Given the description of an element on the screen output the (x, y) to click on. 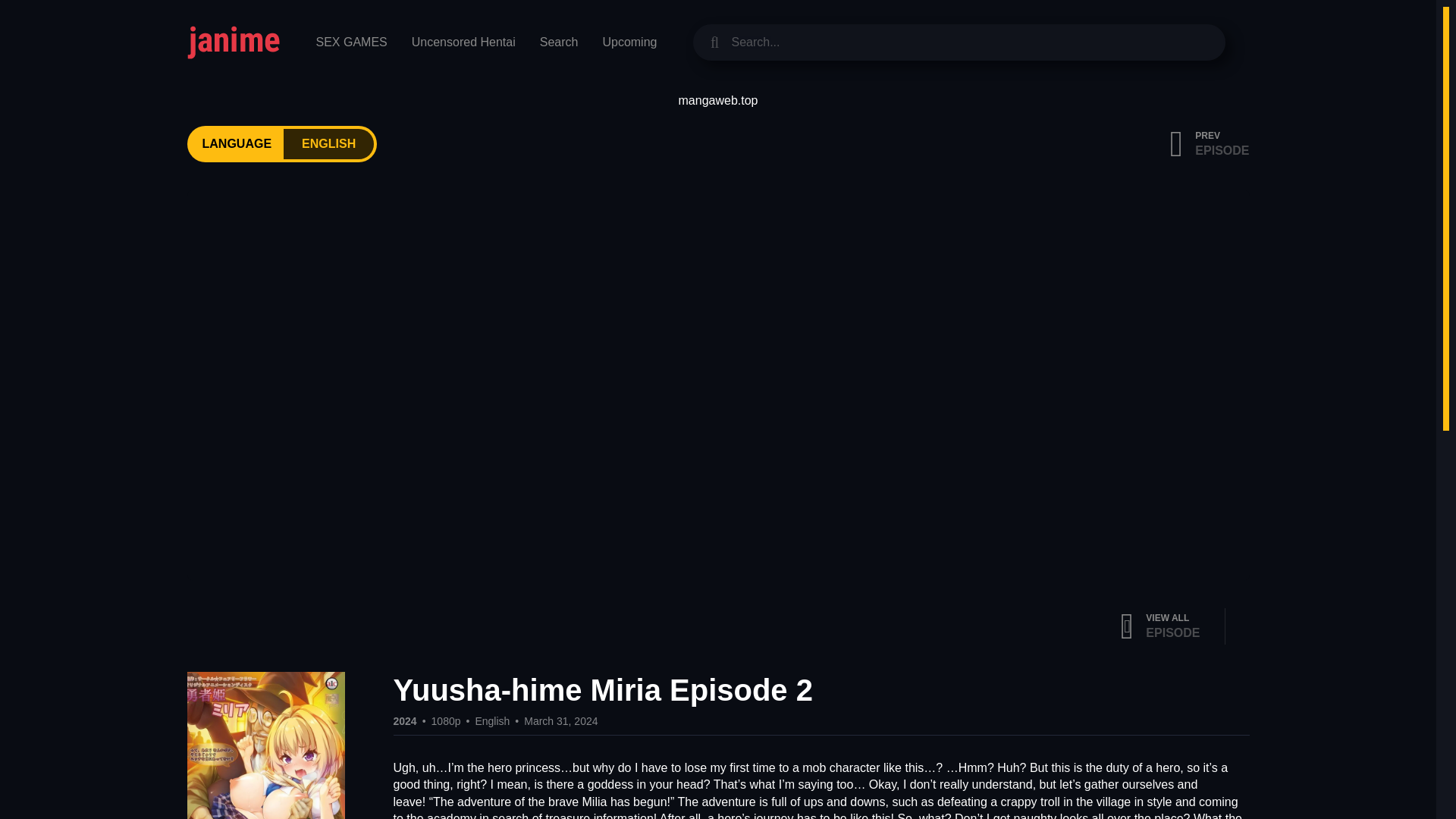
2024 (404, 721)
SEX GAMES (350, 41)
List Manga Website (718, 100)
Search (559, 41)
ENGLISH (1209, 143)
Upcoming (328, 143)
Uncensored Hentai (628, 41)
1080p (462, 41)
English (445, 721)
mangaweb.top (491, 721)
